Given the description of an element on the screen output the (x, y) to click on. 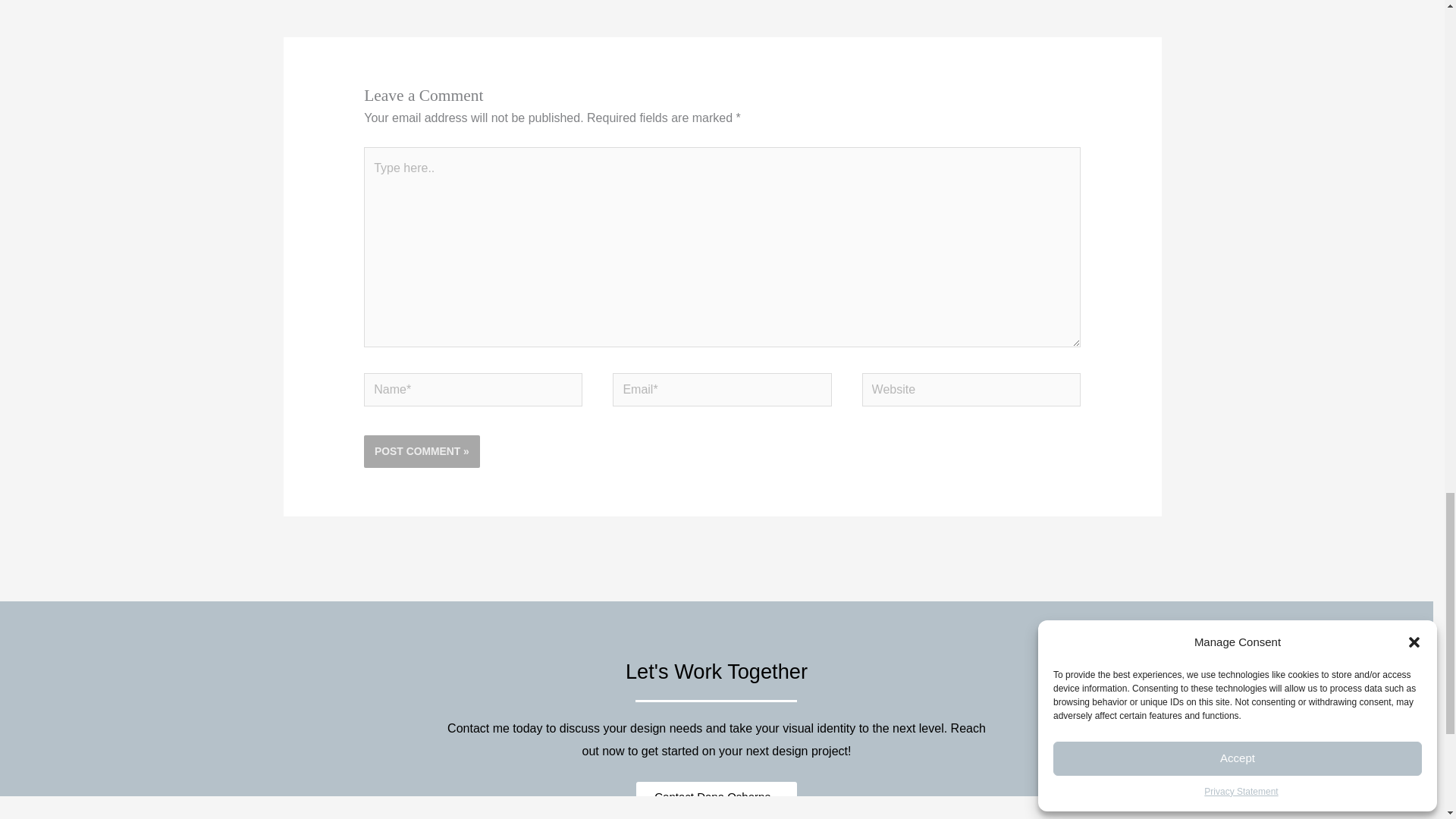
Designing Save the Dates with Photos (1126, 5)
Contact Dana Osborne (716, 796)
